Given the description of an element on the screen output the (x, y) to click on. 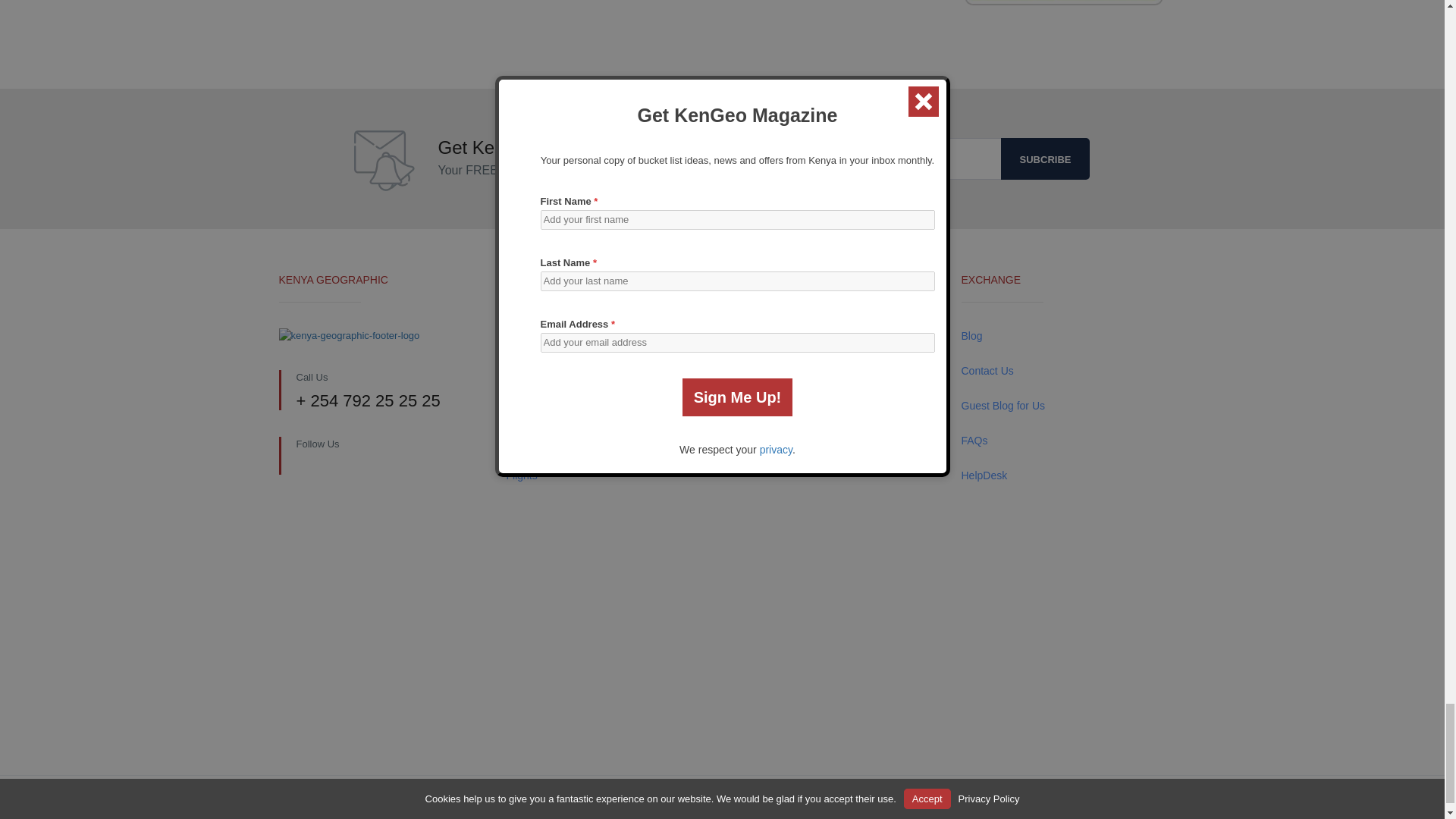
kenya-geographic-footer-logo (349, 335)
Subcribe (1045, 158)
